Given the description of an element on the screen output the (x, y) to click on. 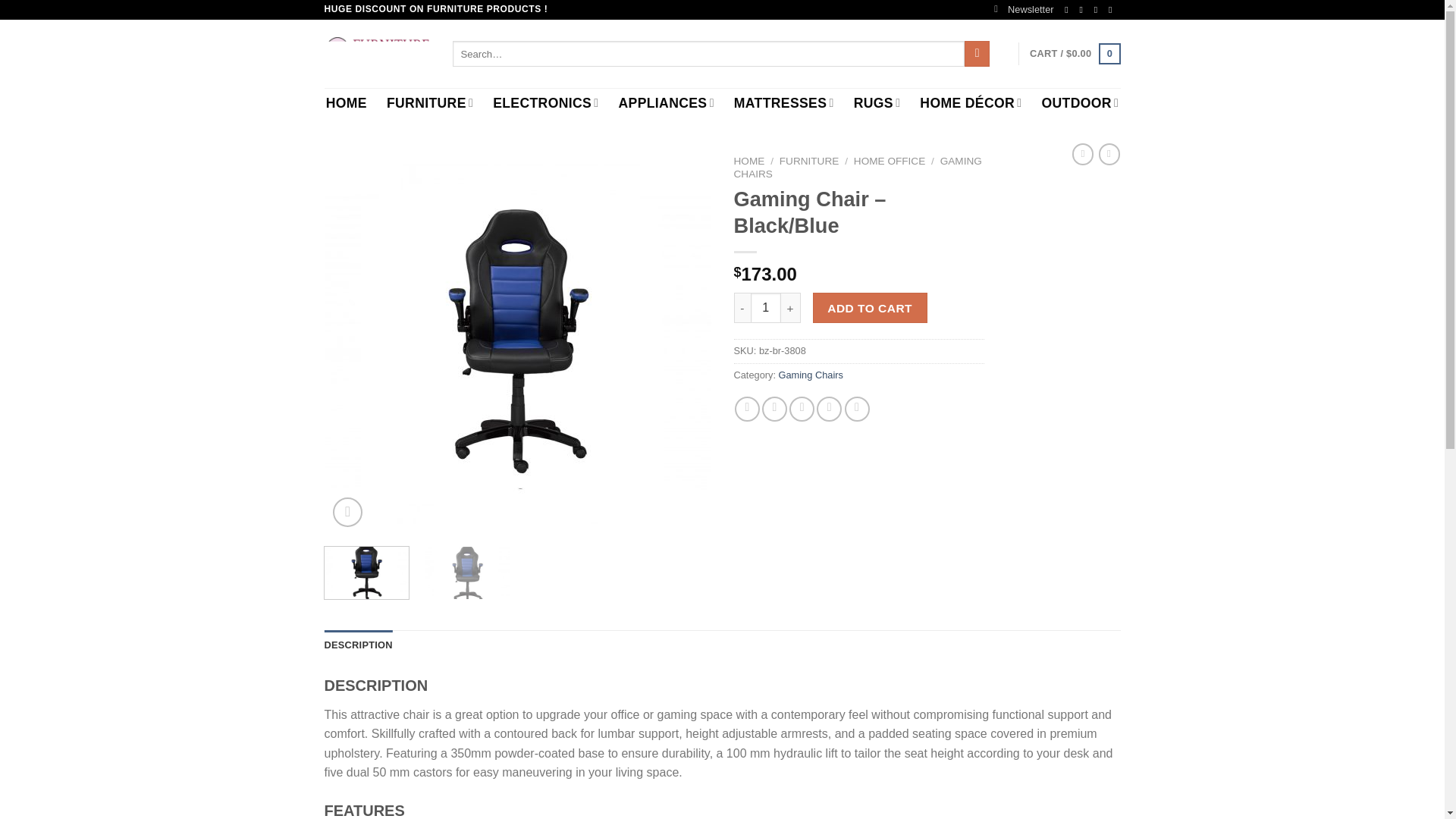
Zoom (347, 512)
Sign up for Newsletter (1023, 9)
HOME (346, 103)
Furniture Trends - Furniture website (376, 53)
Search (976, 53)
1 (765, 307)
Email to a Friend (801, 408)
Cart (1074, 53)
FURNITURE (430, 102)
Share on Twitter (774, 408)
Share on Facebook (747, 408)
Newsletter (1023, 9)
